Given the description of an element on the screen output the (x, y) to click on. 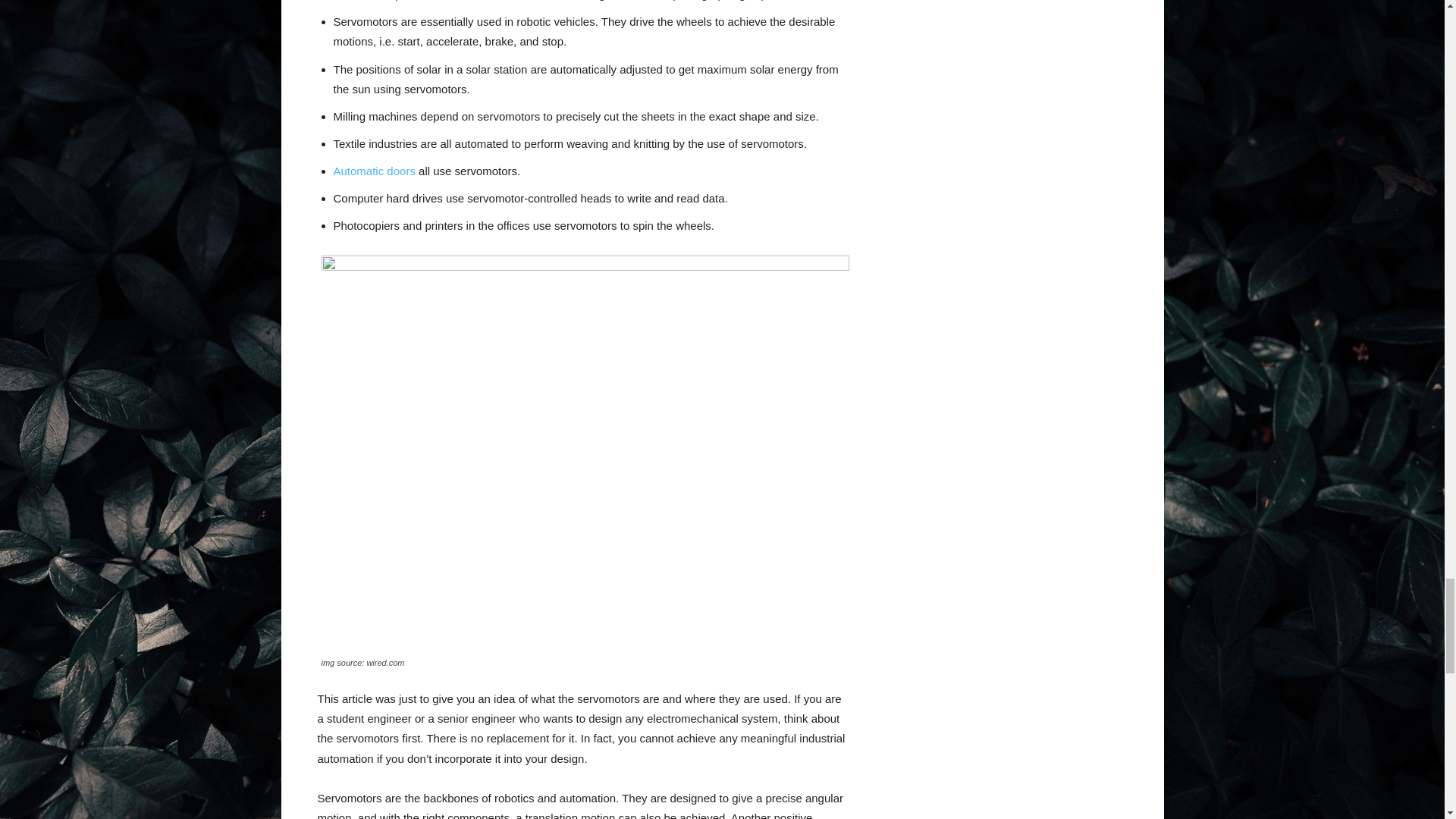
Automatic doors (373, 170)
